Given the description of an element on the screen output the (x, y) to click on. 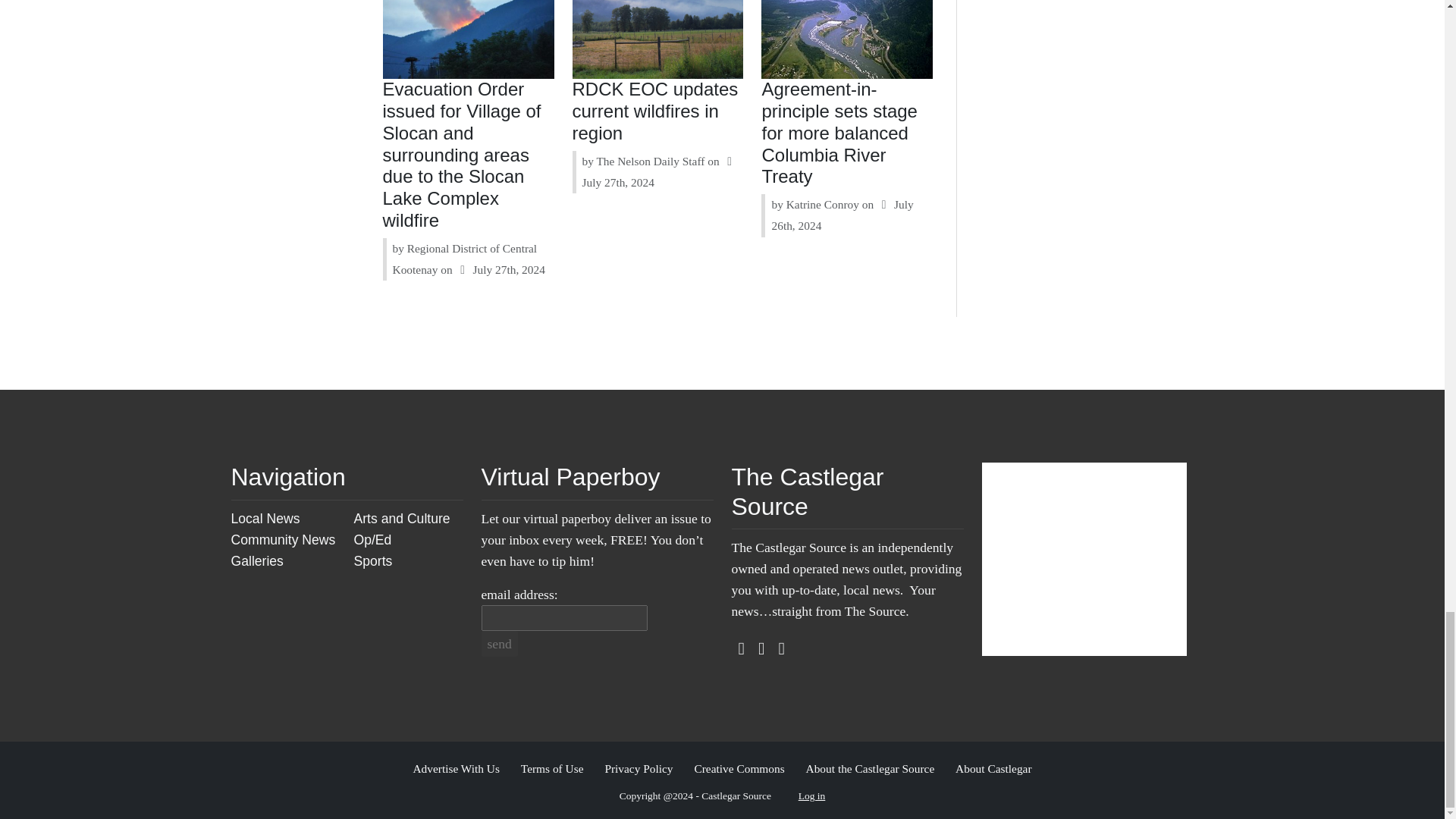
send (498, 643)
RDCK EOC updates current wildfires in region (655, 110)
